Given the description of an element on the screen output the (x, y) to click on. 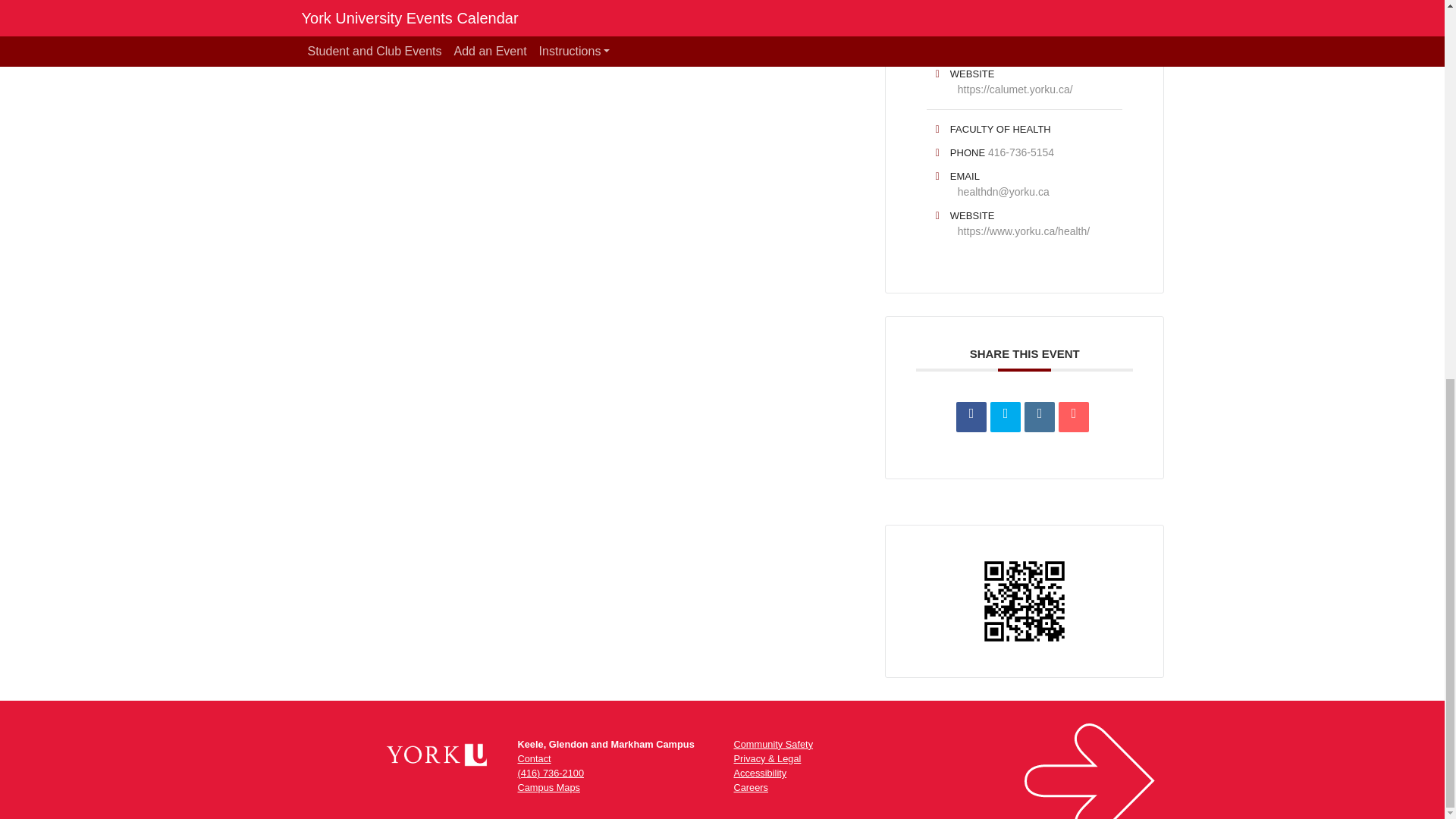
416-736-5098 (1021, 10)
Linkedin (1039, 417)
Email (1073, 417)
Share on Facebook (971, 417)
416-736-5154 (1021, 152)
Tweet (1005, 417)
